Given the description of an element on the screen output the (x, y) to click on. 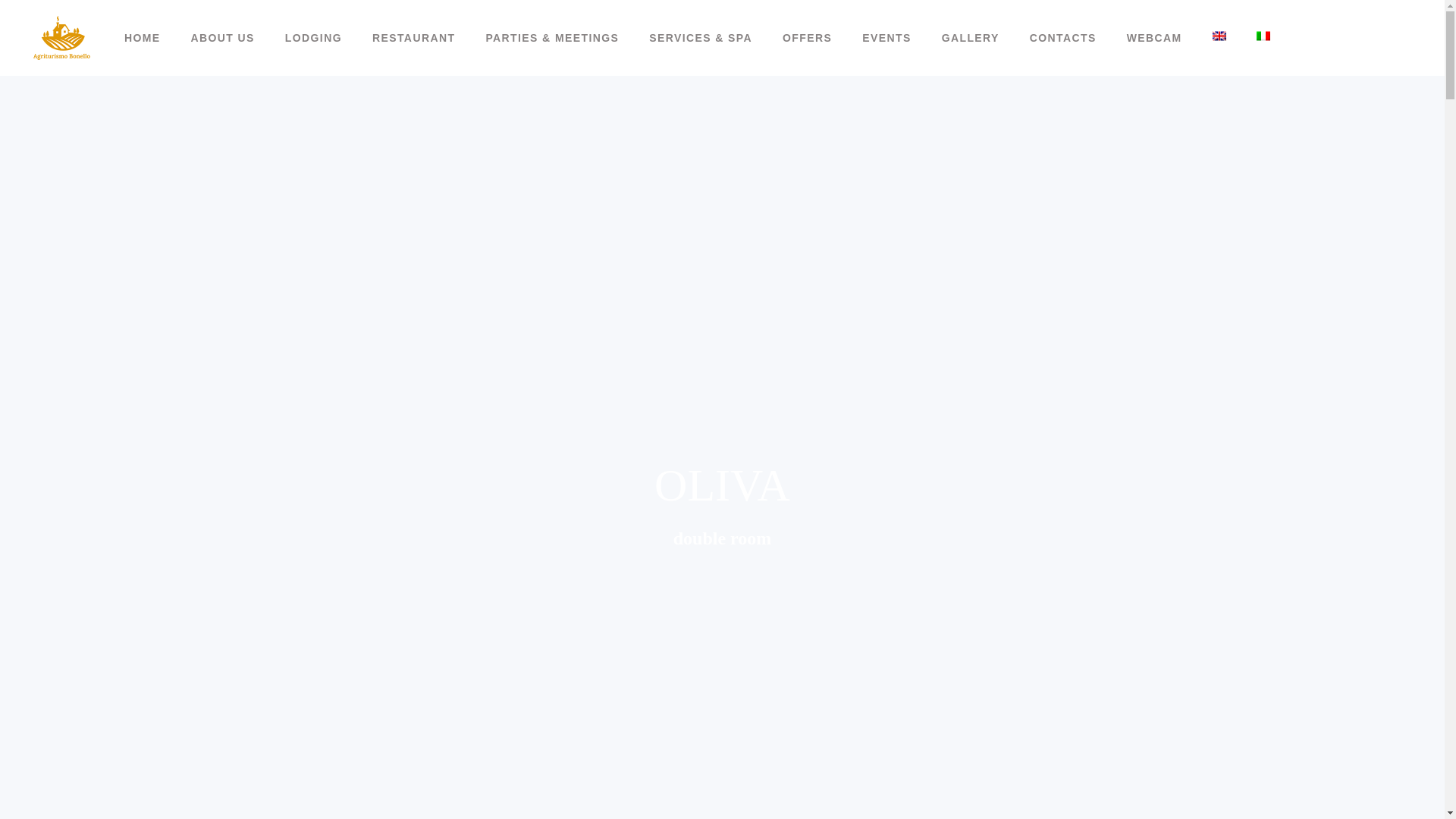
ABOUT US (222, 38)
CONTACTS (1063, 38)
LODGING (312, 38)
EVENTS (886, 38)
OFFERS (807, 38)
WEBCAM (1154, 38)
GALLERY (970, 38)
RESTAURANT (413, 38)
